Given the description of an element on the screen output the (x, y) to click on. 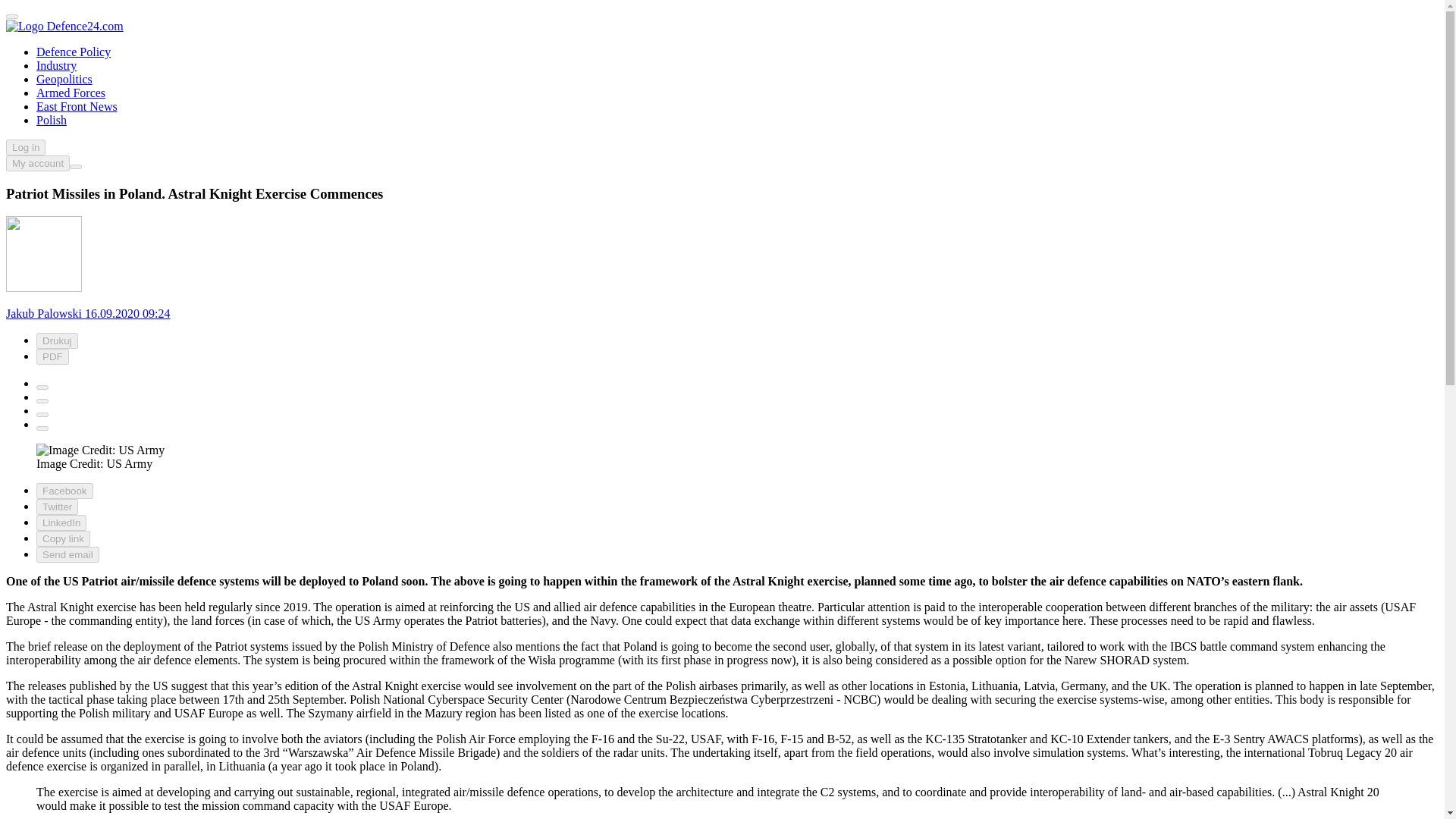
Twitter (42, 400)
Industry (56, 65)
Defence Policy (73, 51)
My account (37, 163)
Facebook (64, 490)
Send email (67, 554)
Polish (51, 119)
Armed Forces (70, 92)
Log in (25, 147)
LinkedIn (60, 522)
